Given the description of an element on the screen output the (x, y) to click on. 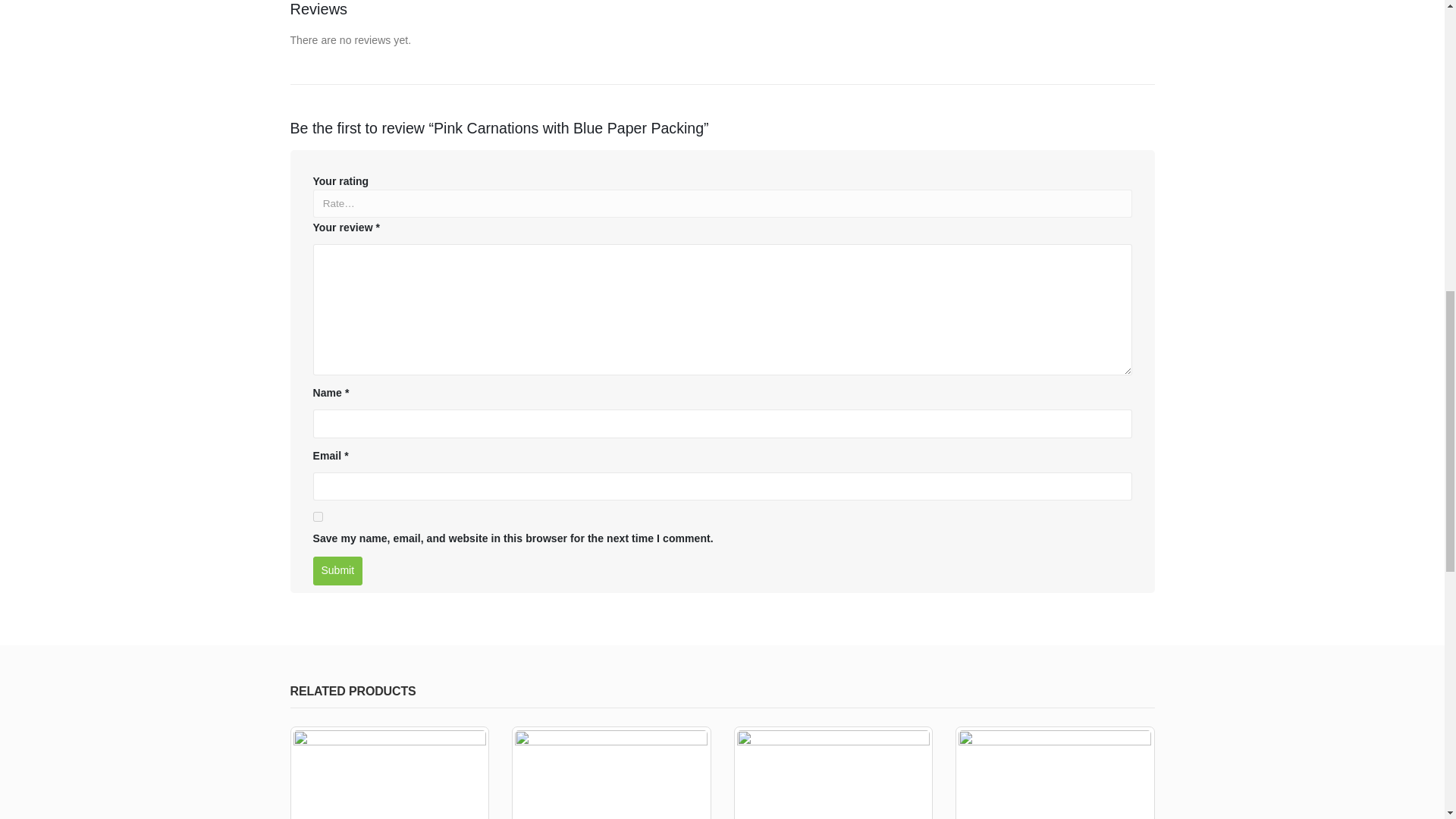
Submit (337, 570)
yes (317, 516)
Submit (337, 570)
